Given the description of an element on the screen output the (x, y) to click on. 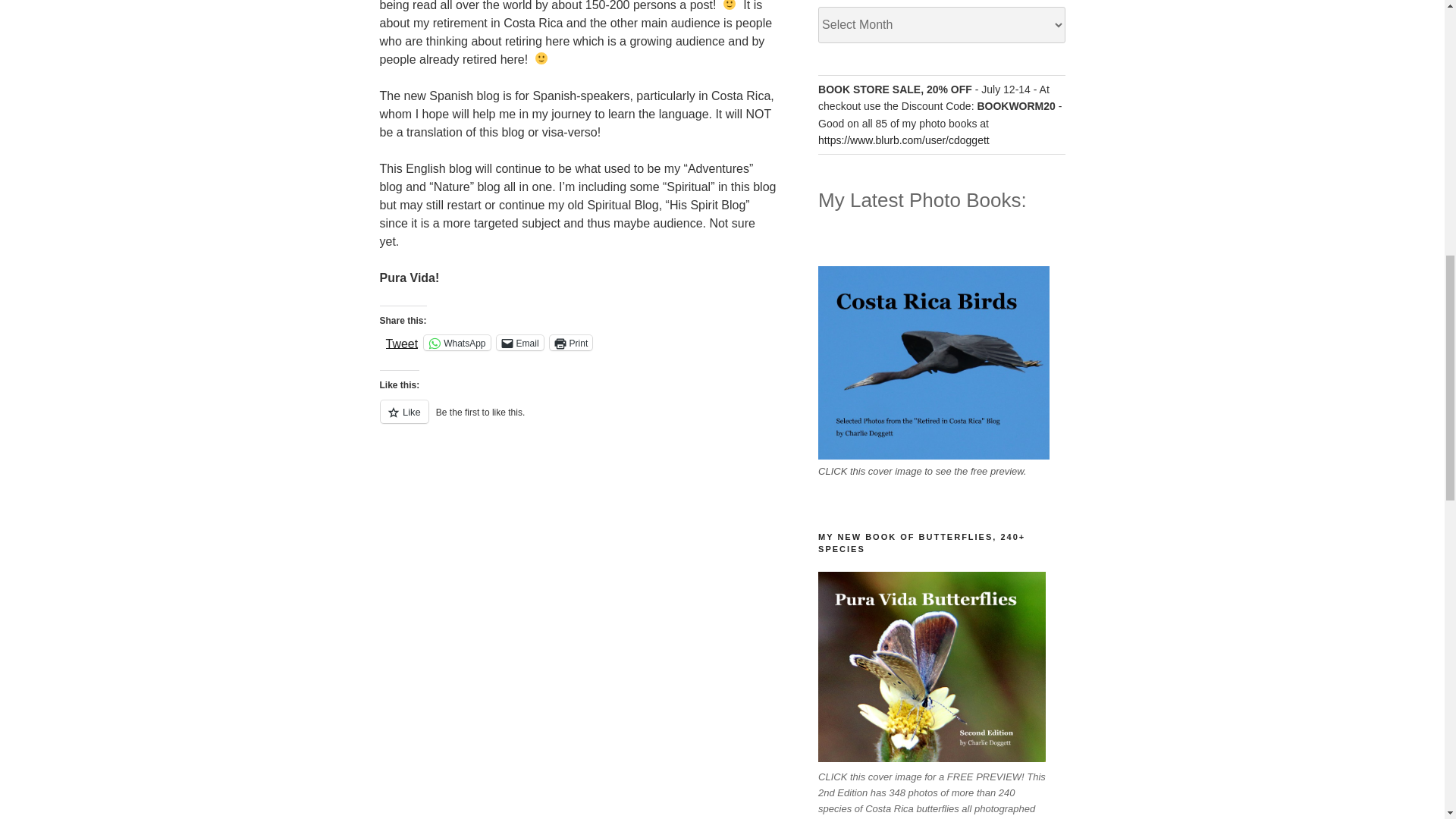
Click to email a link to a friend (519, 342)
Like or Reblog (577, 420)
Click to share on WhatsApp (456, 342)
Click to print (571, 342)
